Given the description of an element on the screen output the (x, y) to click on. 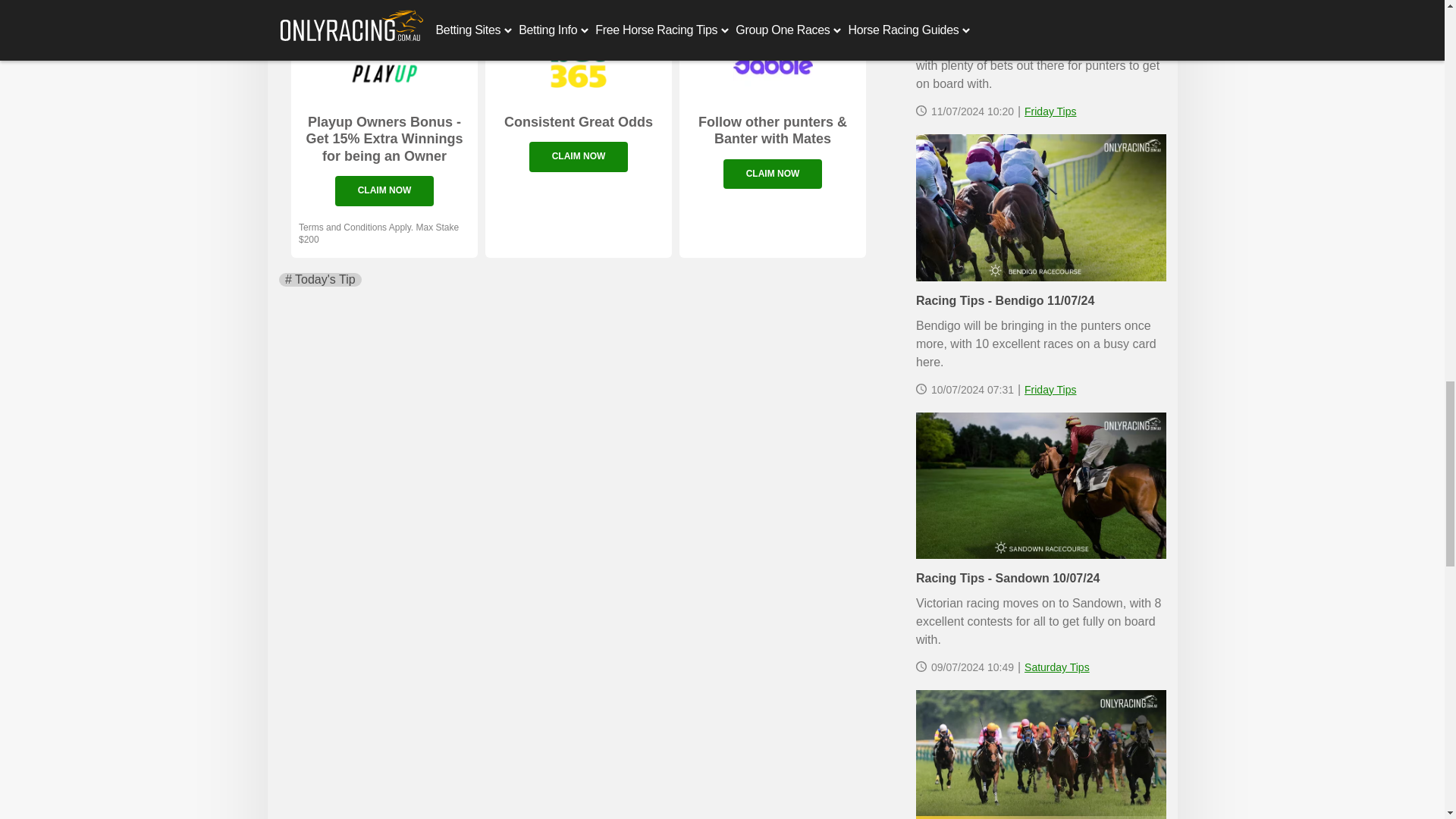
Dabble  (772, 62)
